Given the description of an element on the screen output the (x, y) to click on. 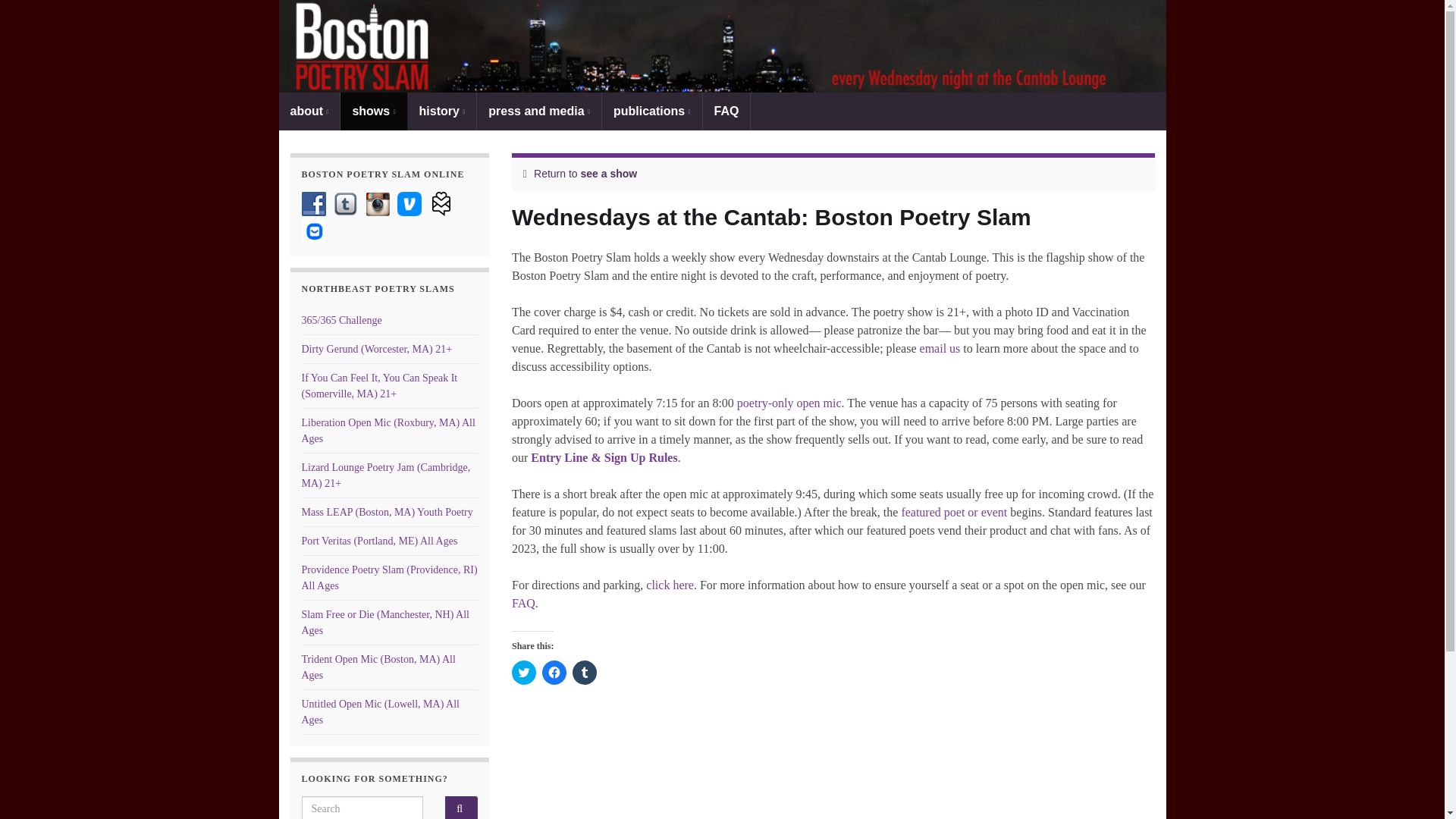
Click to share on Tumblr (584, 672)
about (309, 111)
 Venmo (409, 203)
Boston Poetry Slam (722, 46)
The daily writing blog run by the Cantab Open Mic community. (341, 319)
Click to share on Twitter (523, 672)
 Old Newsletter! (440, 203)
Click to share on Facebook (553, 672)
history (442, 111)
upcoming shows at the Cantab (954, 512)
 Current Newsletter! (313, 230)
 Instagram (377, 203)
 Facebook (313, 203)
 Tumblr (345, 203)
